Given the description of an element on the screen output the (x, y) to click on. 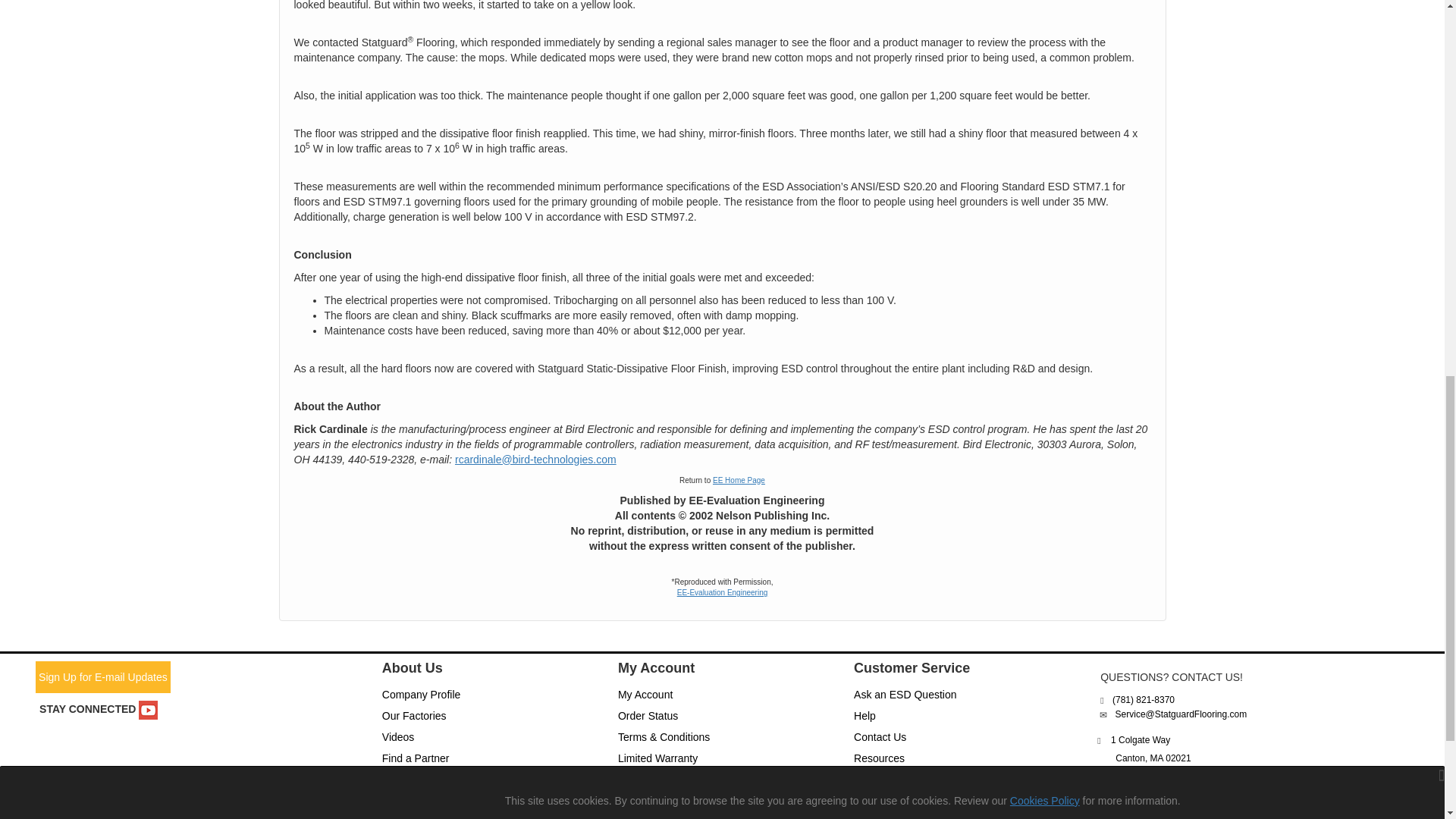
You Tube (147, 710)
Desco Industries (1102, 778)
